Given the description of an element on the screen output the (x, y) to click on. 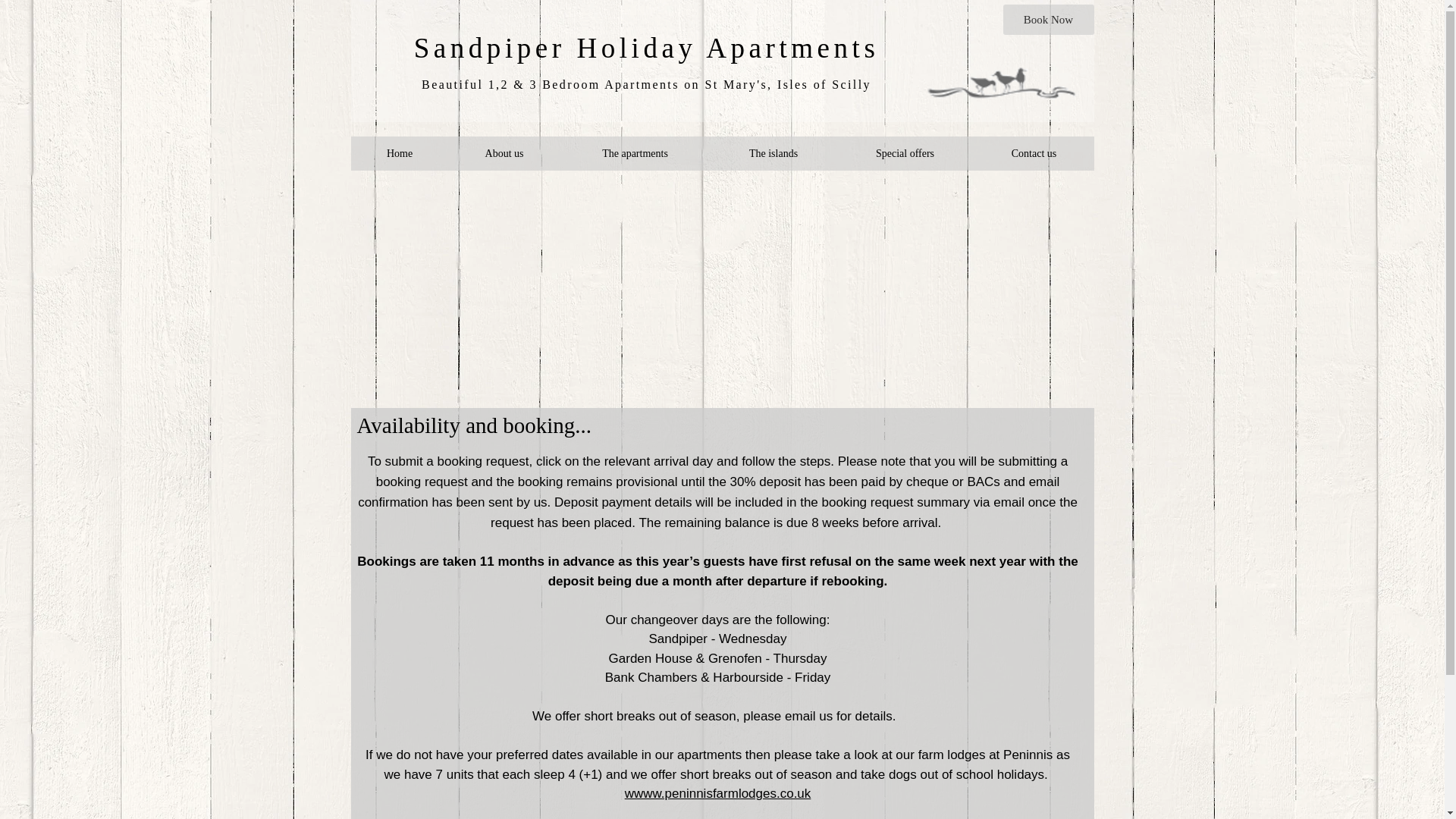
The islands (772, 153)
Home (399, 153)
Book Now (1048, 19)
wwww.peninnisfarmlodges.co.uk (717, 793)
The apartments (634, 153)
About us (503, 153)
Special offers (903, 153)
Sandpiper (489, 47)
Contact us (1034, 153)
